Given the description of an element on the screen output the (x, y) to click on. 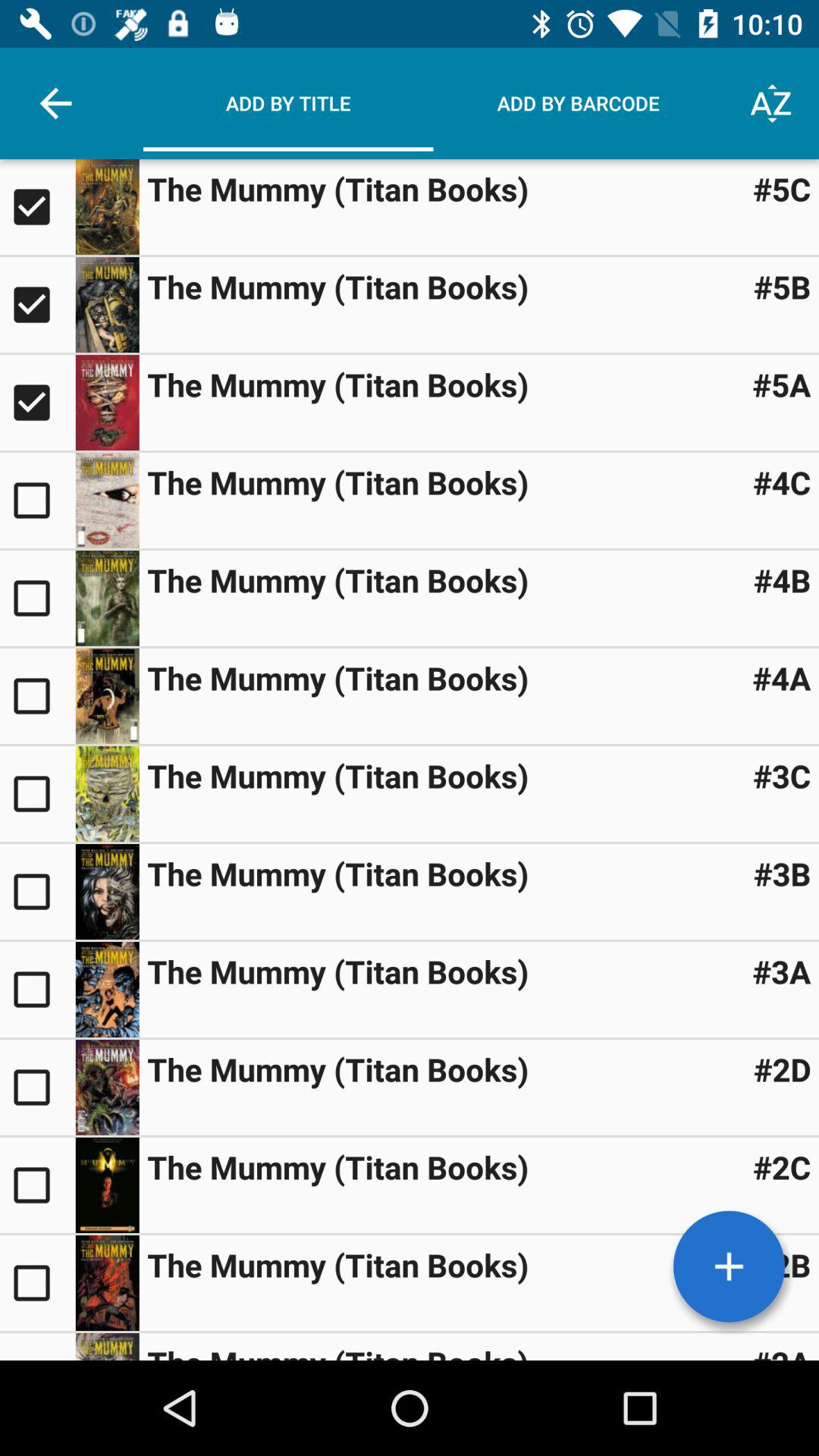
select book button (37, 1282)
